Given the description of an element on the screen output the (x, y) to click on. 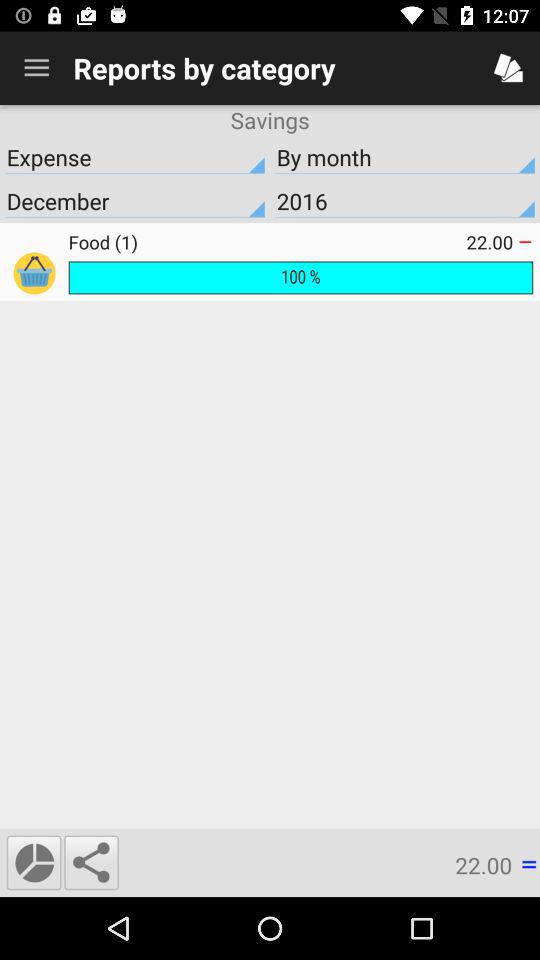
select the icon below food (1) (300, 277)
